Given the description of an element on the screen output the (x, y) to click on. 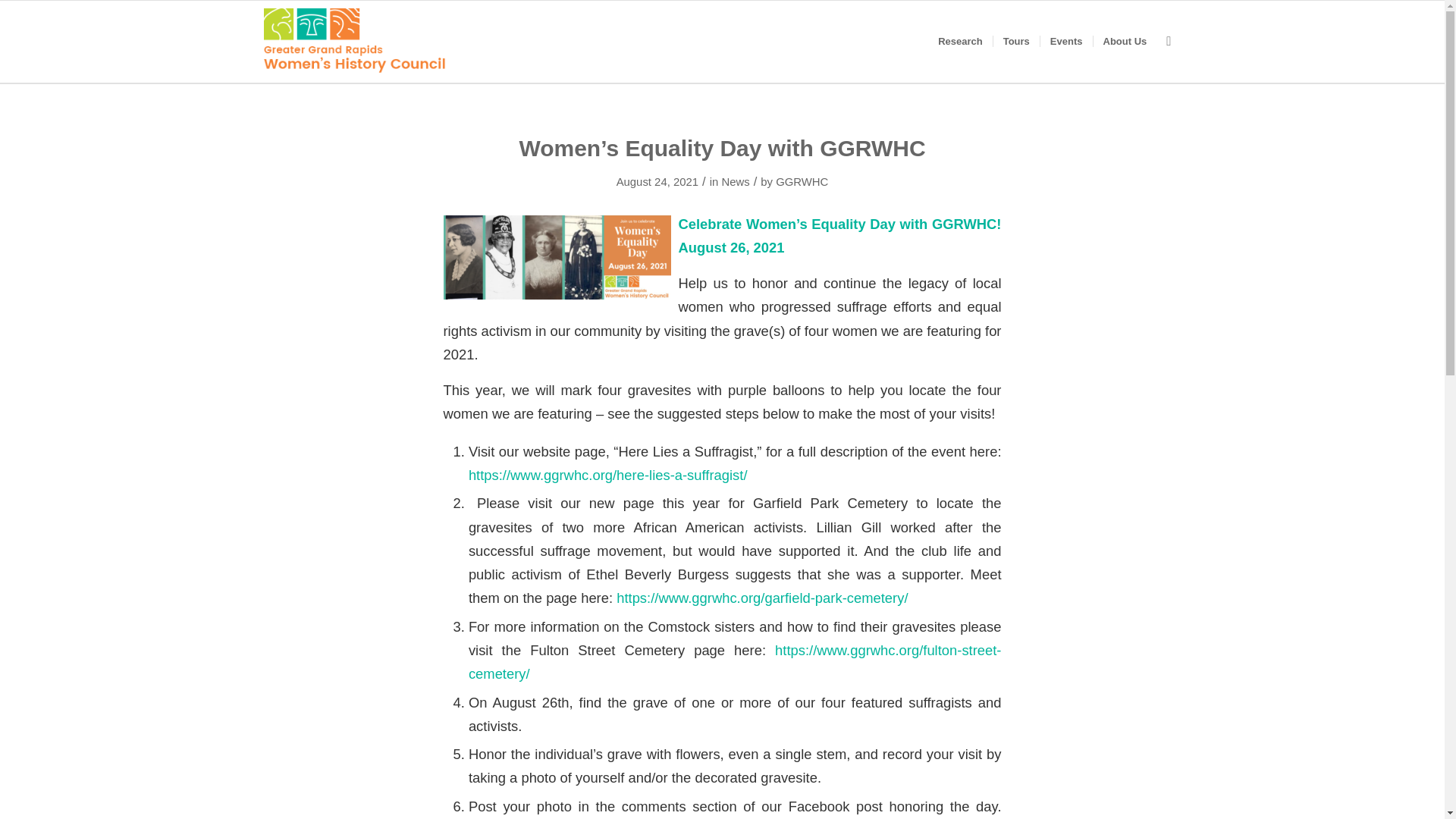
News (734, 182)
About Us (1124, 41)
Posts by GGRWHC (802, 182)
Research (960, 41)
GGRWHC (802, 182)
